Given the description of an element on the screen output the (x, y) to click on. 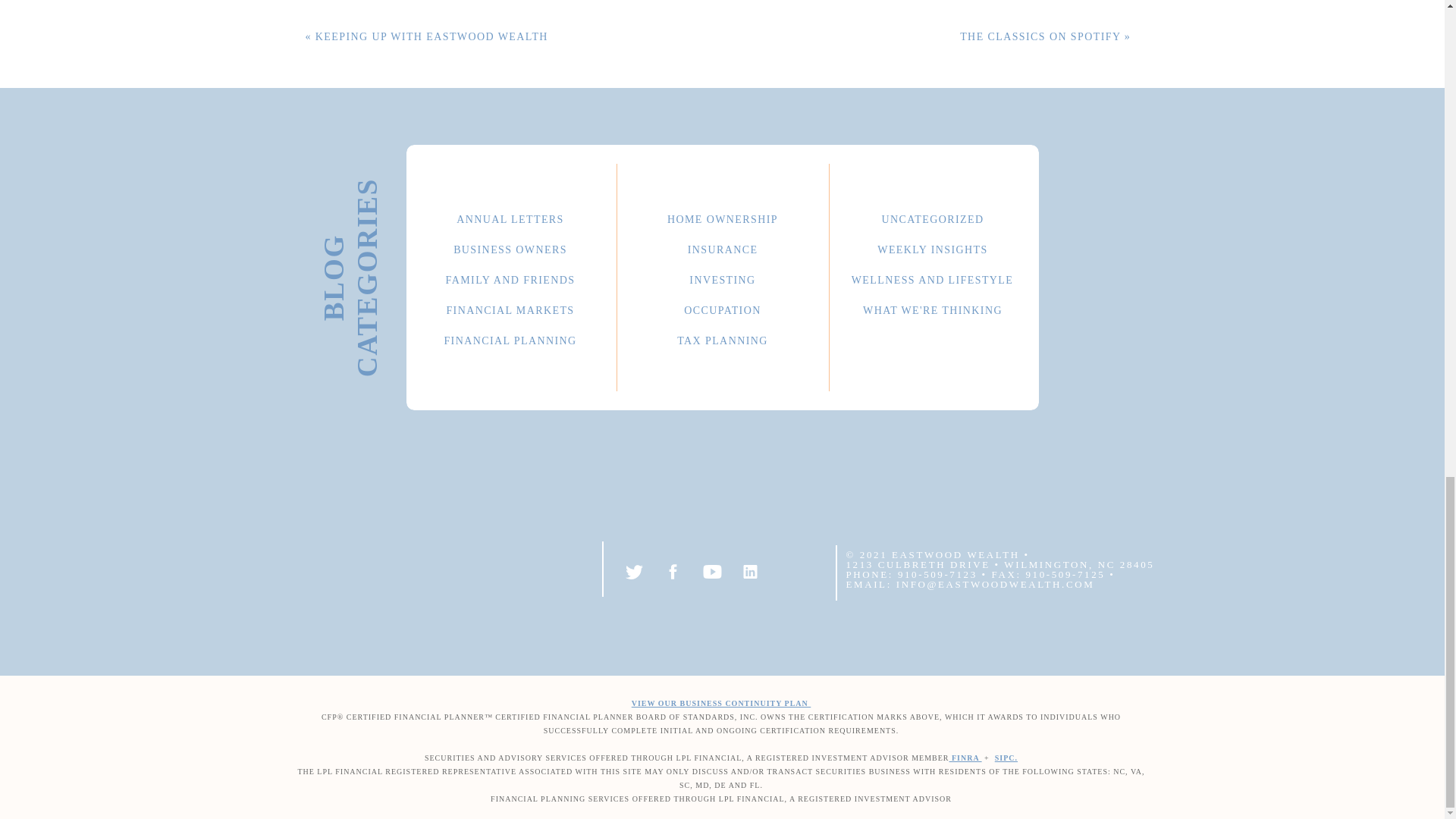
WEEKLY INSIGHTS (933, 247)
INVESTING (721, 278)
KEEPING UP WITH EASTWOOD WEALTH (431, 36)
INSURANCE (721, 247)
BUSINESS OWNERS (509, 247)
THE CLASSICS ON SPOTIFY (1040, 36)
VIEW OUR BUSINESS CONTINUITY PLAN  (720, 703)
HOME OWNERSHIP (721, 216)
WHAT WE'RE THINKING (933, 308)
ANNUAL LETTERS (509, 216)
